Given the description of an element on the screen output the (x, y) to click on. 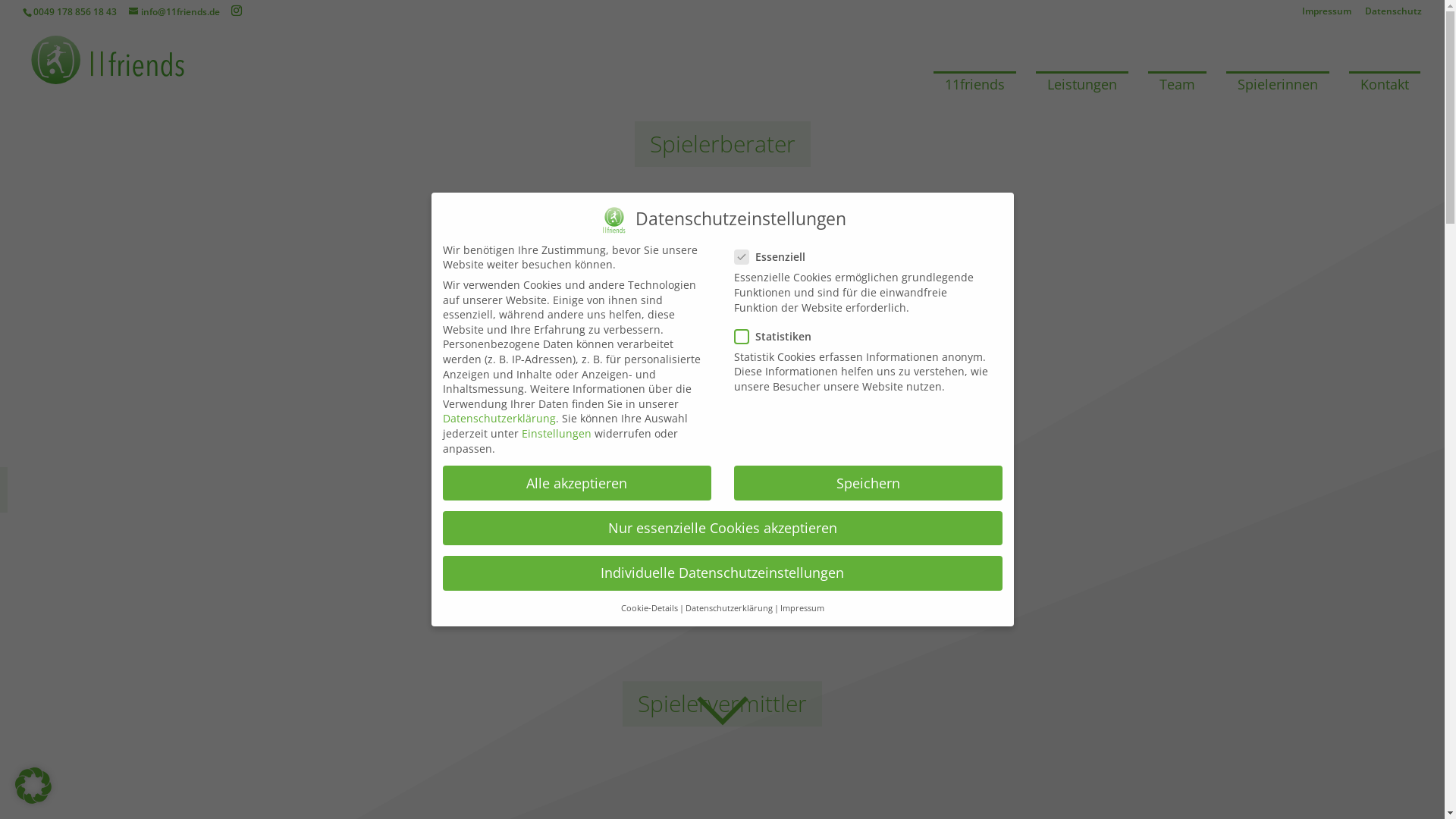
Alle akzeptieren Element type: text (576, 482)
11friends
11friends Element type: text (974, 84)
info@11friends.de Element type: text (173, 11)
Nur essenzielle Cookies akzeptieren Element type: text (722, 528)
Einstellungen Element type: text (556, 433)
Spielerinnen
Spielerinnen Element type: text (1277, 84)
Datenschutz Element type: text (1393, 14)
Kontakt
Kontakt Element type: text (1384, 84)
Speichern Element type: text (868, 482)
Individuelle Datenschutzeinstellungen Element type: text (722, 572)
Impressum Element type: text (801, 607)
Cookie-Details Element type: text (648, 607)
Impressum Element type: text (1326, 14)
Team
Team Element type: text (1177, 84)
Leistungen
Leistungen Element type: text (1081, 84)
